Given the description of an element on the screen output the (x, y) to click on. 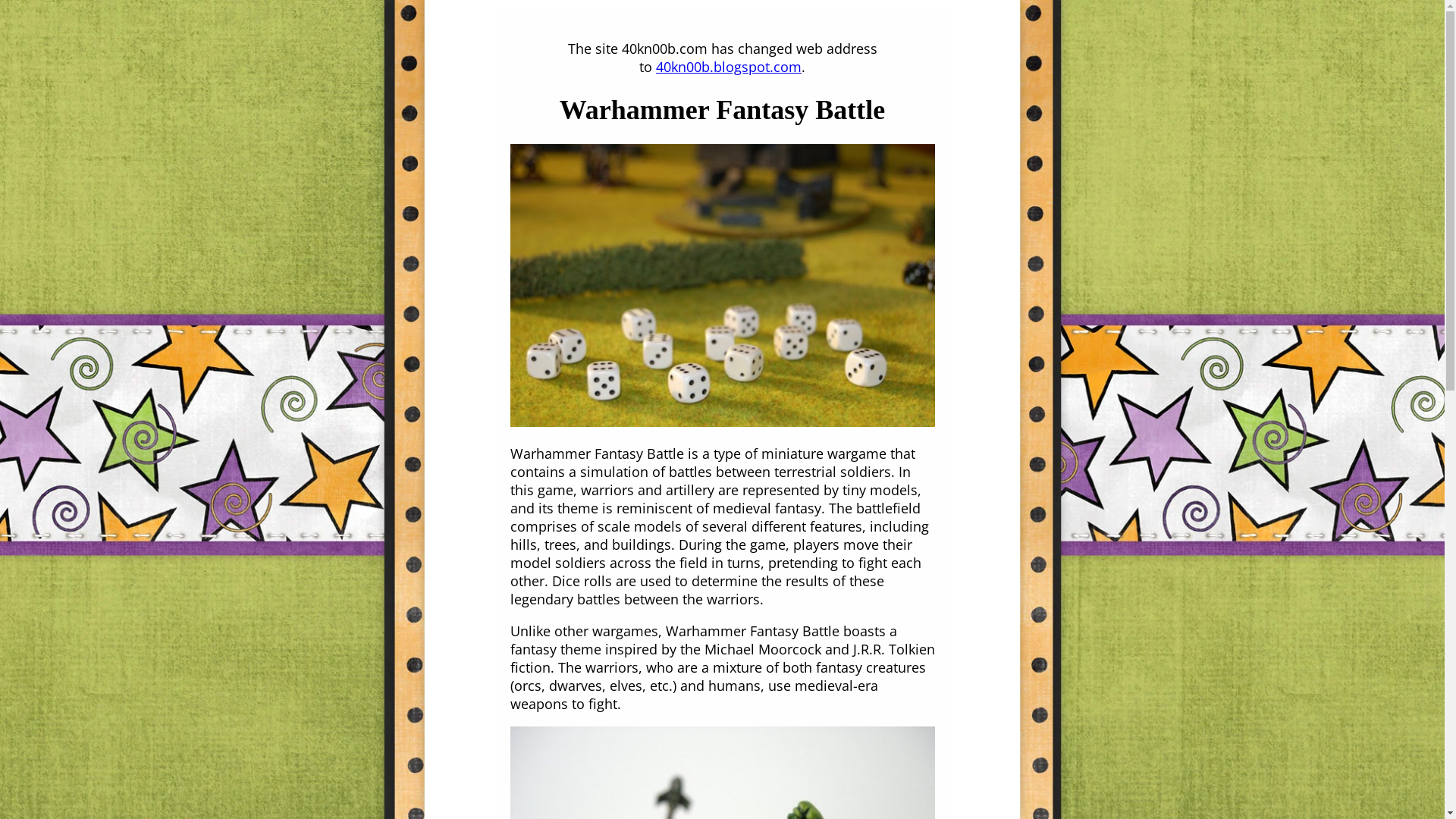
40kn00b.blogspot.com Element type: text (728, 66)
